Given the description of an element on the screen output the (x, y) to click on. 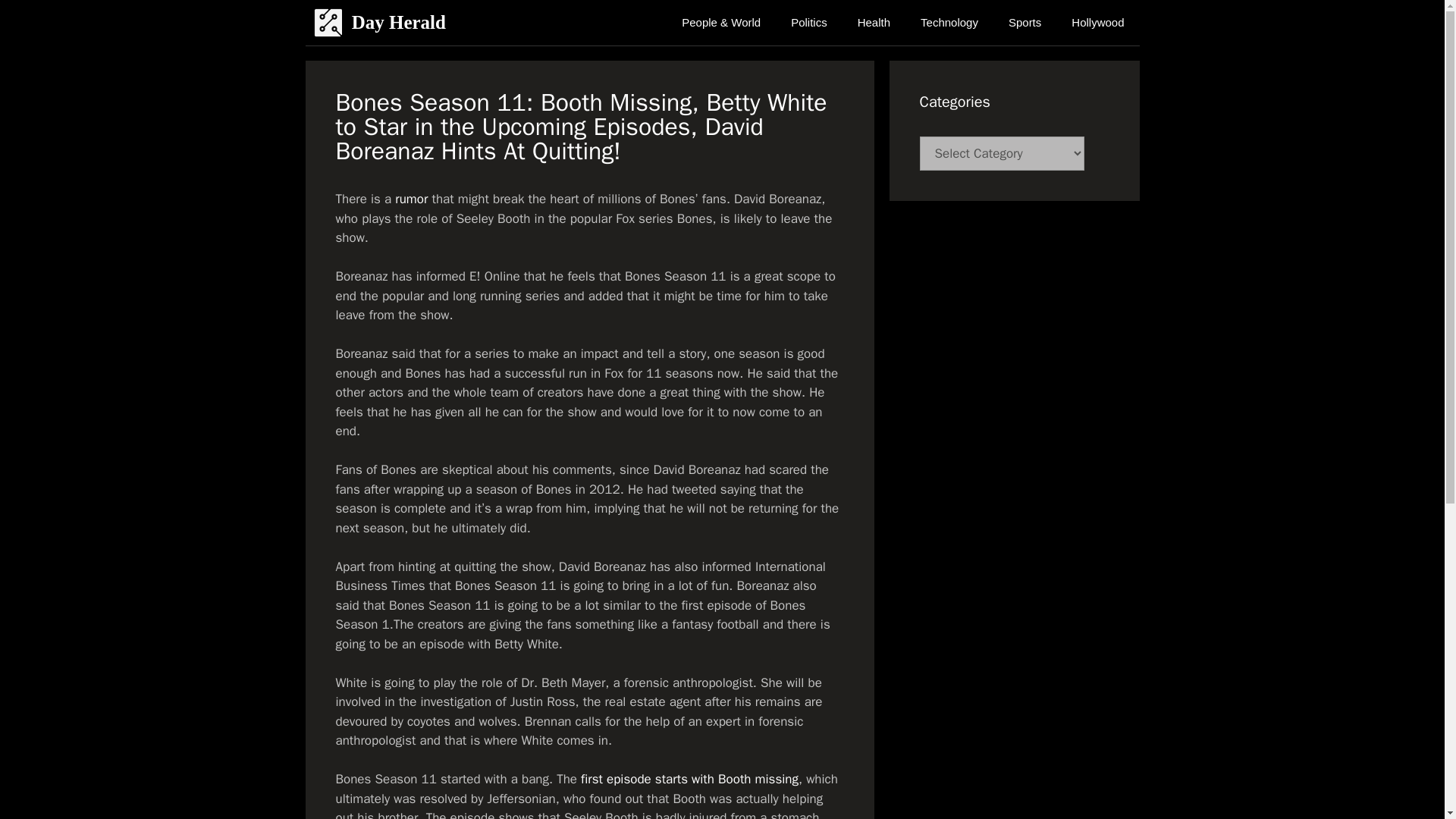
Technology (948, 22)
Health (874, 22)
Hollywood (1097, 22)
Politics (809, 22)
first episode starts with Booth missing (688, 779)
Sports (1024, 22)
Day Herald (398, 22)
rumor (411, 198)
